Given the description of an element on the screen output the (x, y) to click on. 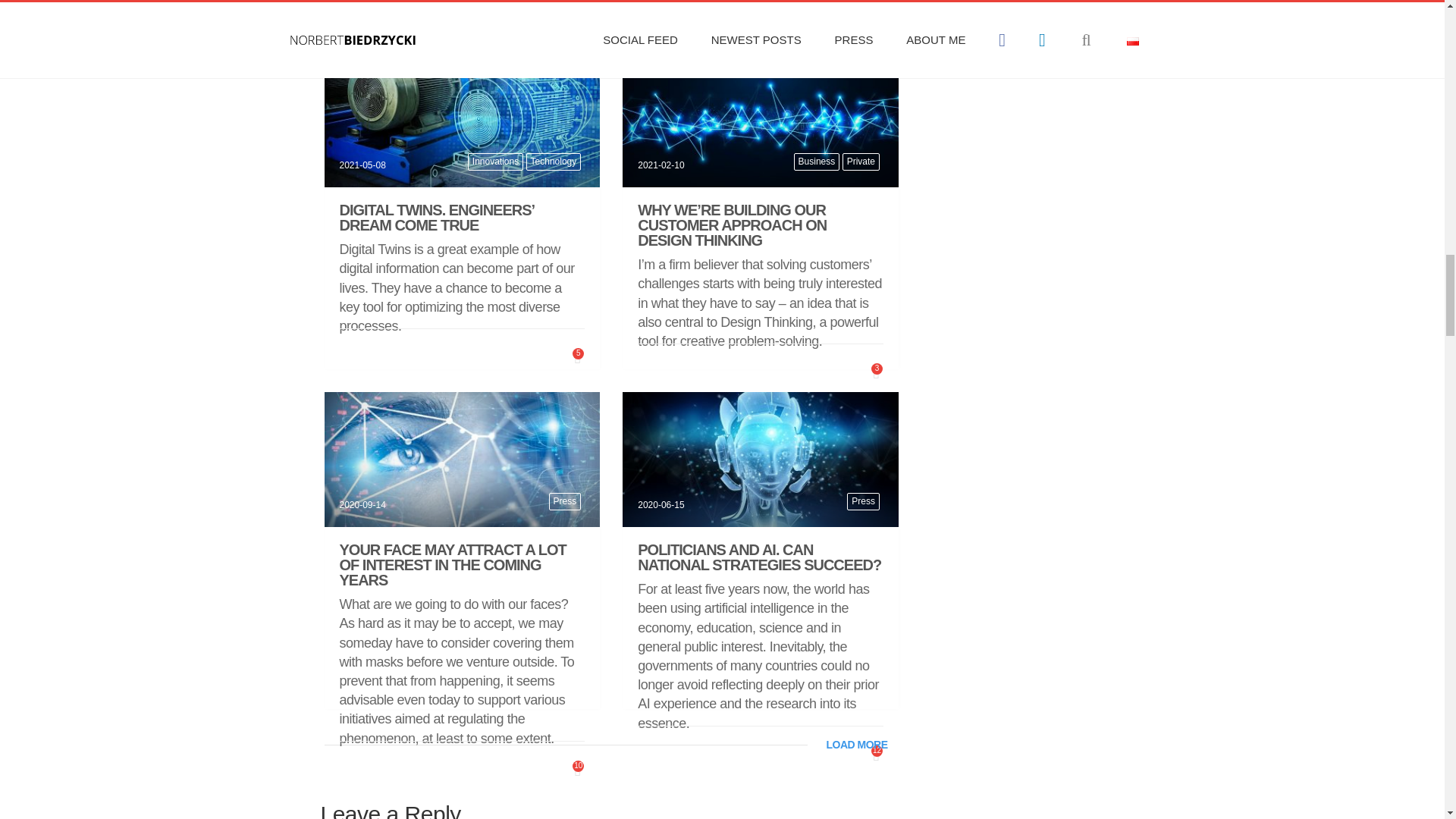
Innovations (494, 161)
